Given the description of an element on the screen output the (x, y) to click on. 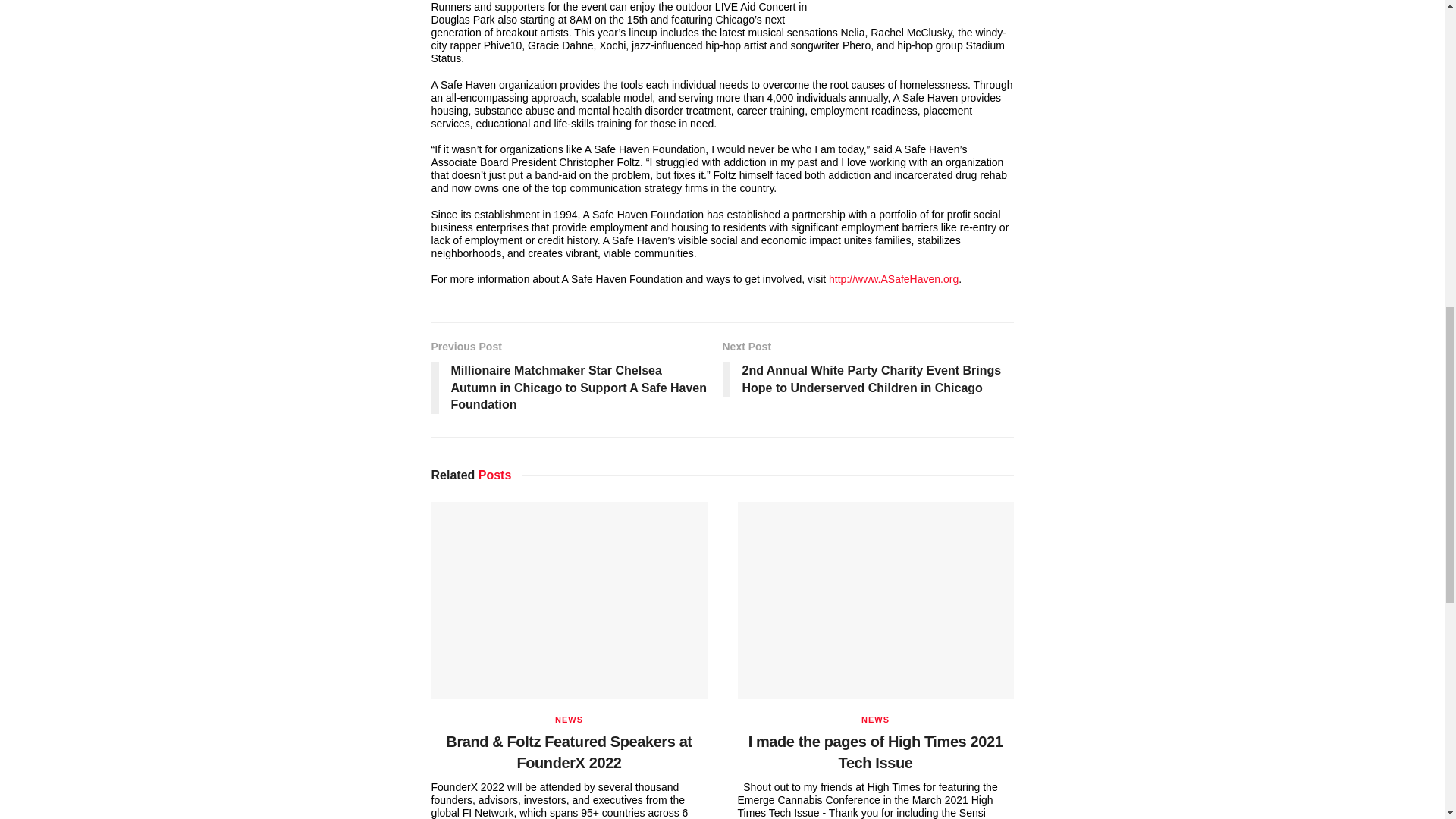
Run Swag (927, 4)
NEWS (875, 719)
I made the pages of High Times 2021 Tech Issue (875, 752)
NEWS (568, 719)
